Given the description of an element on the screen output the (x, y) to click on. 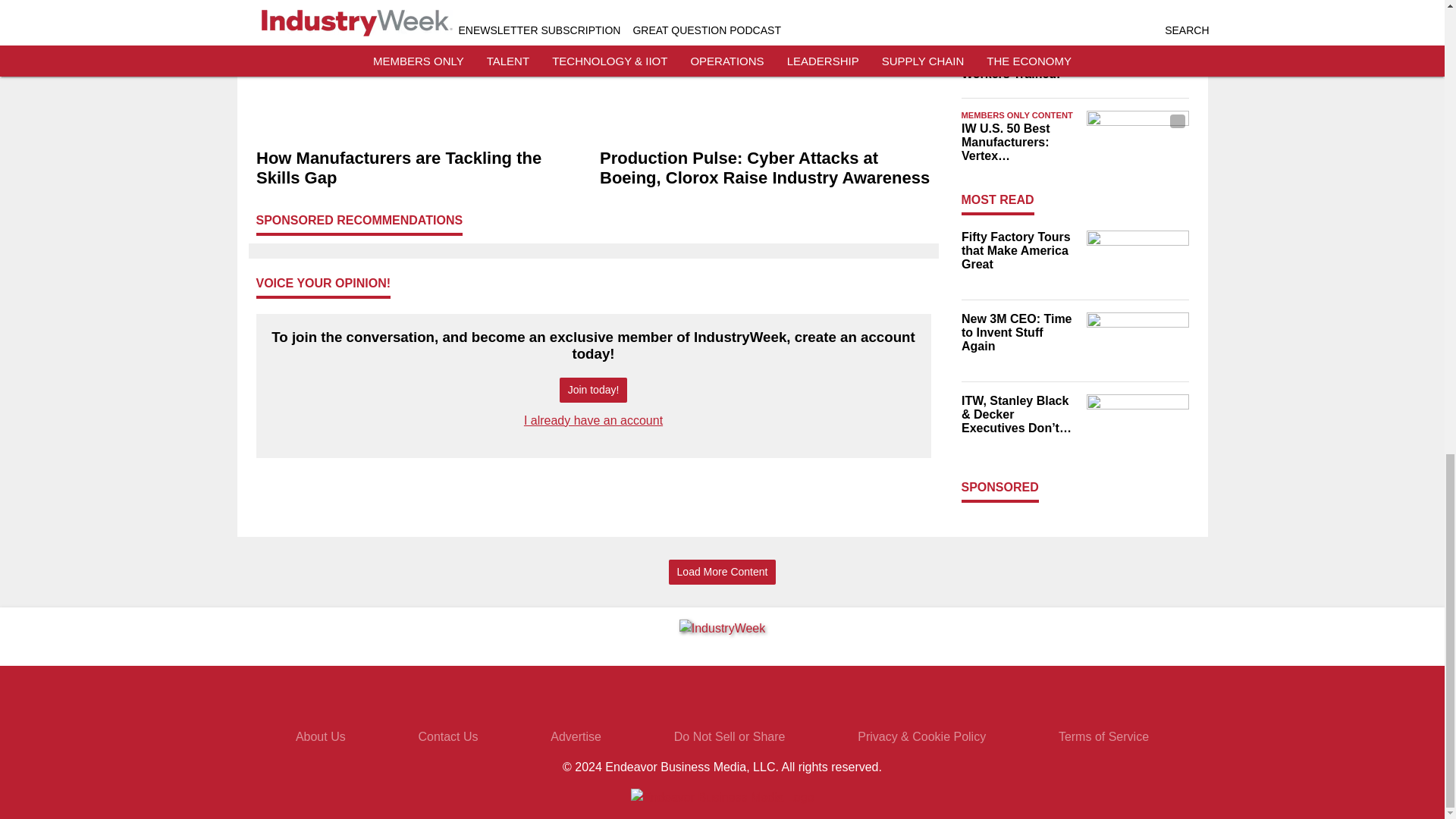
So That Happened: Get Those New Workers Trained! (1019, 60)
How Manufacturers are Tackling the Skills Gap (422, 168)
I already have an account (593, 420)
Join today! (593, 389)
Phil Powell, Indiana University (1137, 2)
